Given the description of an element on the screen output the (x, y) to click on. 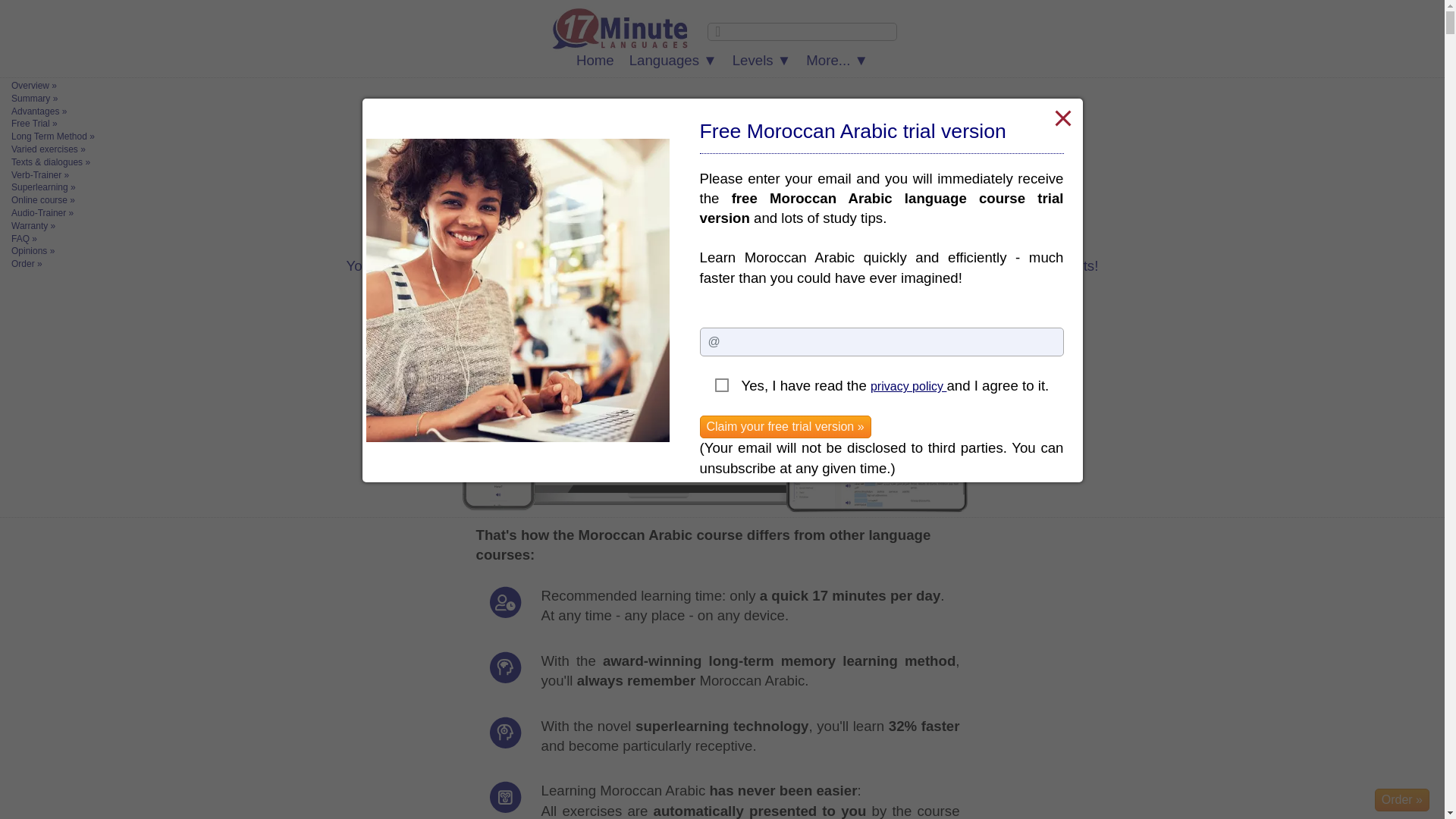
Levels Element type: text (761, 60)
Home Element type: text (594, 60)
Languages Element type: text (672, 60)
More... Element type: text (836, 60)
